Given the description of an element on the screen output the (x, y) to click on. 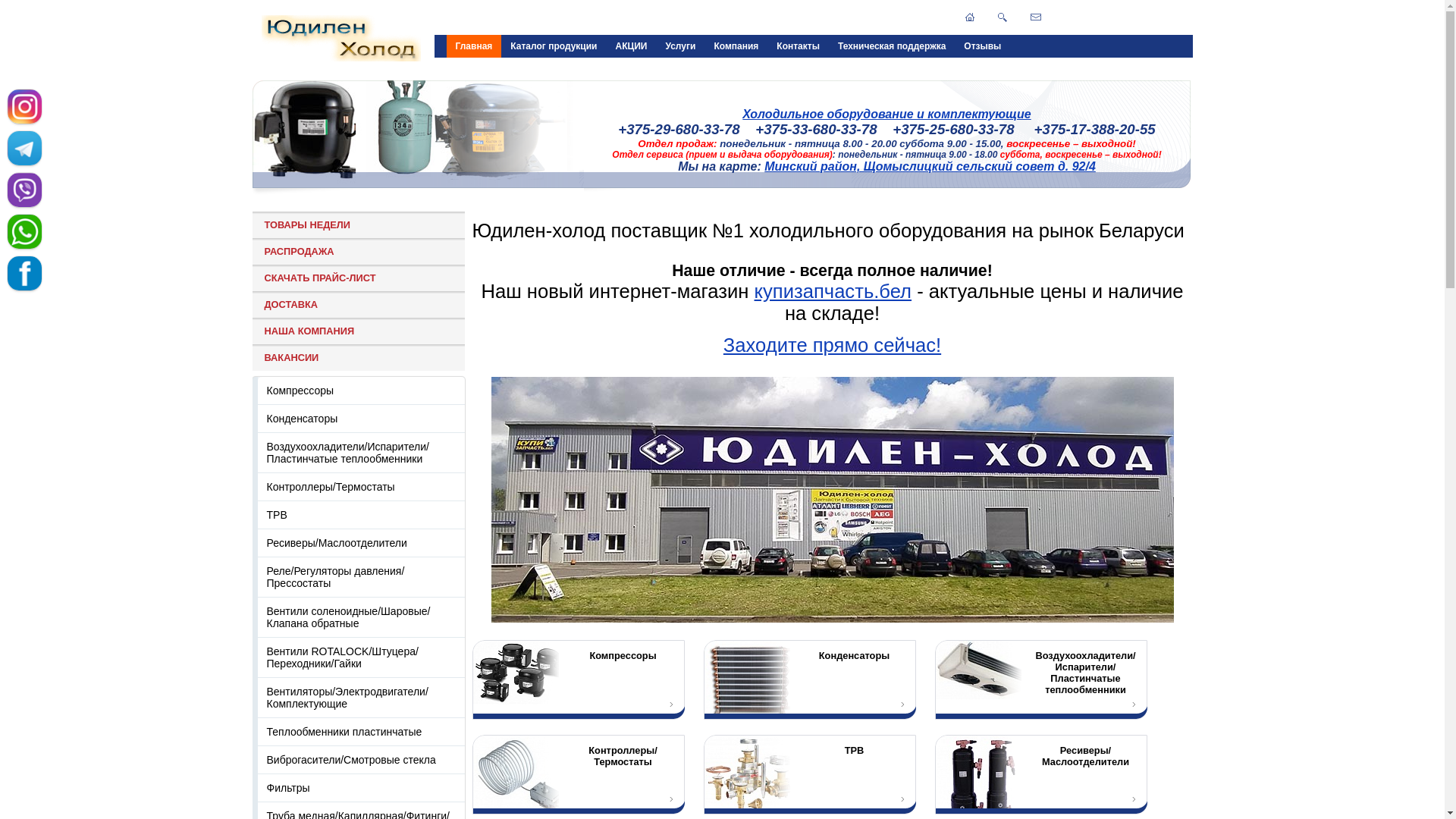
logo1.gif Element type: hover (340, 38)
